Given the description of an element on the screen output the (x, y) to click on. 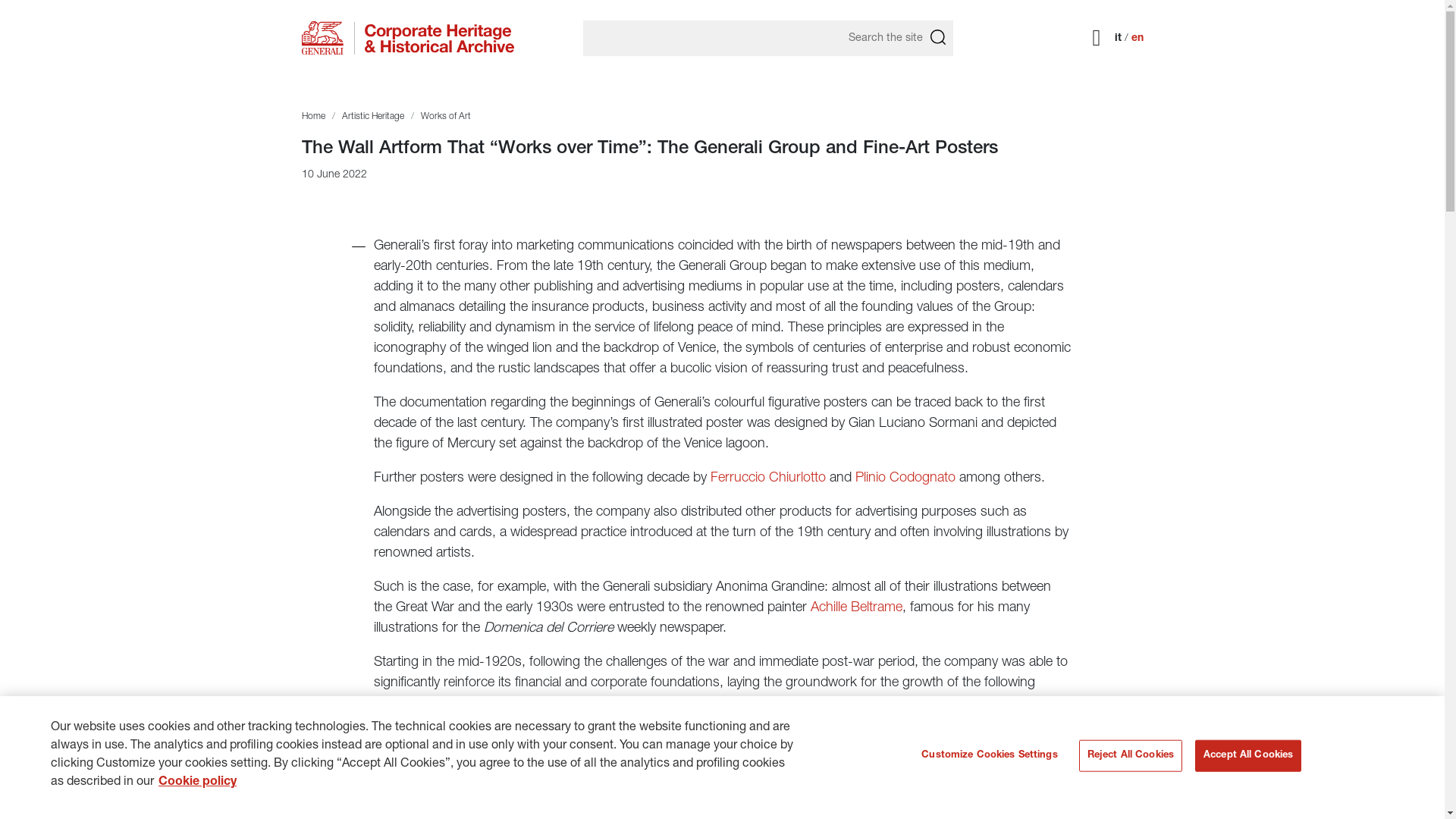
Home (312, 116)
Artistic Heritage (371, 116)
Plinio Codognato (905, 478)
Achille Beltrame (855, 608)
Works of Art (445, 116)
Ferruccio Chiurlotto (767, 478)
Marcello Dudovich (817, 778)
